Given the description of an element on the screen output the (x, y) to click on. 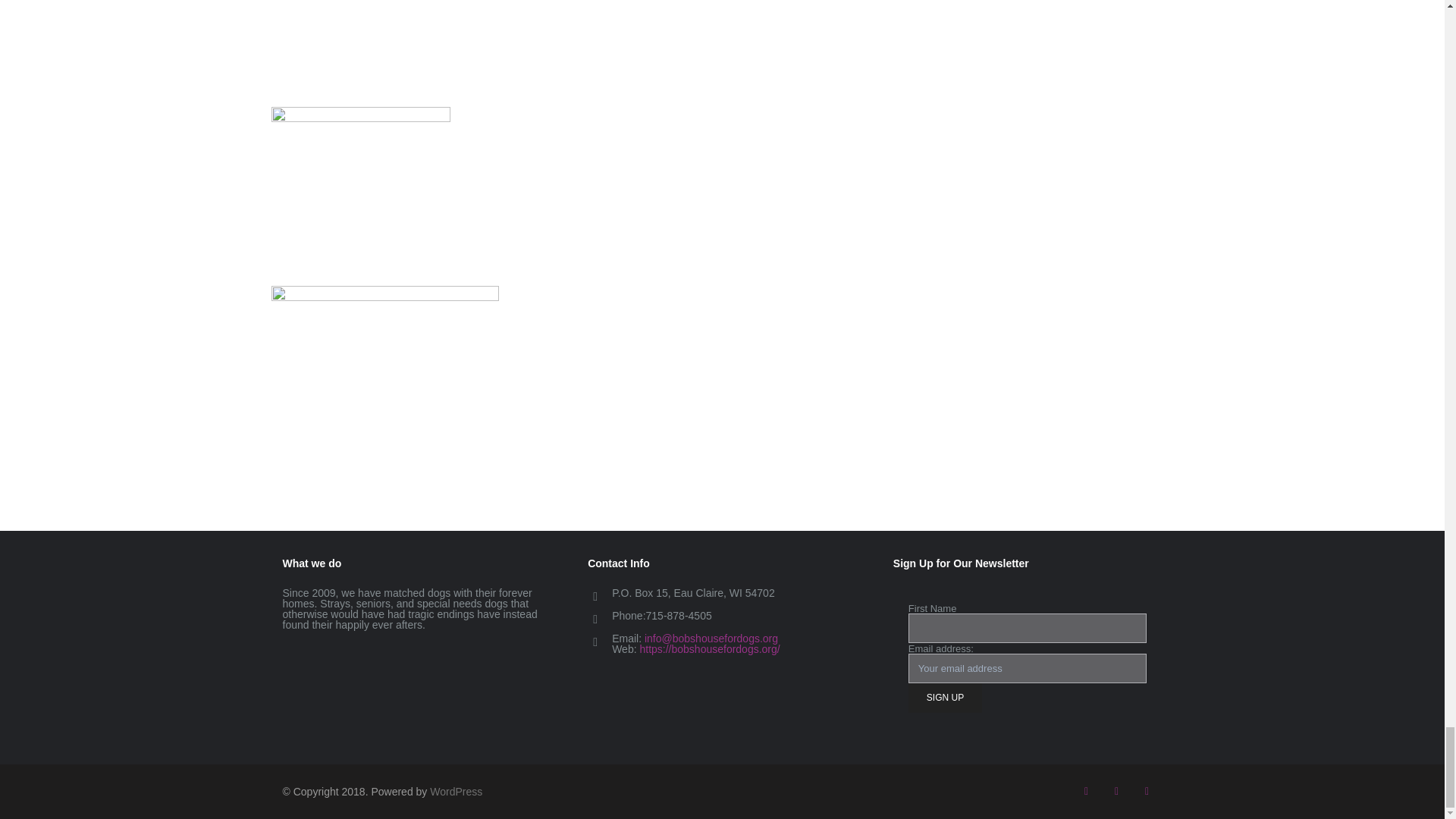
riverbend (359, 53)
Sign up (944, 697)
